Given the description of an element on the screen output the (x, y) to click on. 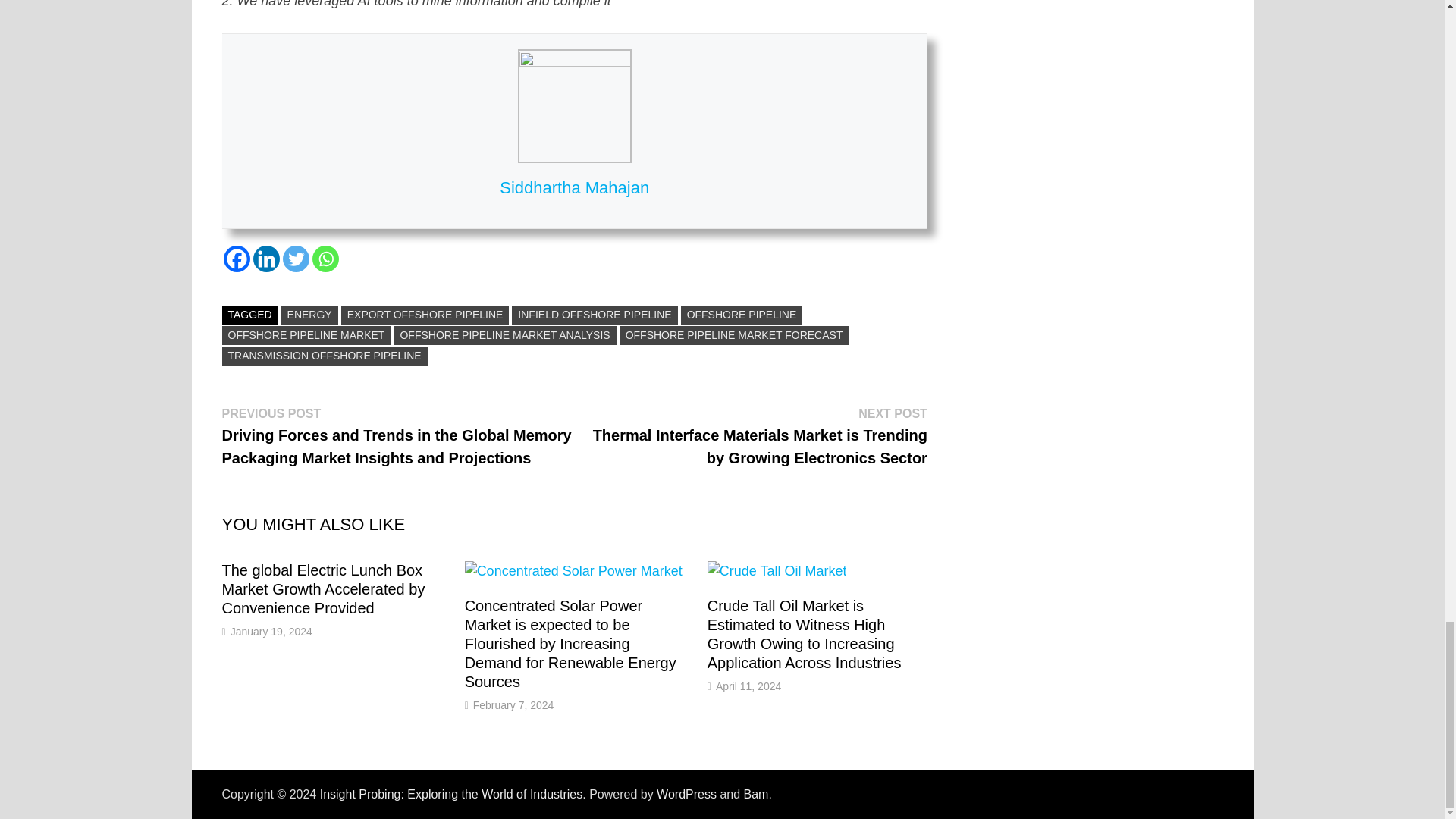
Twitter (295, 258)
Linkedin (266, 258)
Insight Probing: Exploring the World of Industries (451, 793)
Whatsapp (326, 258)
Facebook (235, 258)
